Given the description of an element on the screen output the (x, y) to click on. 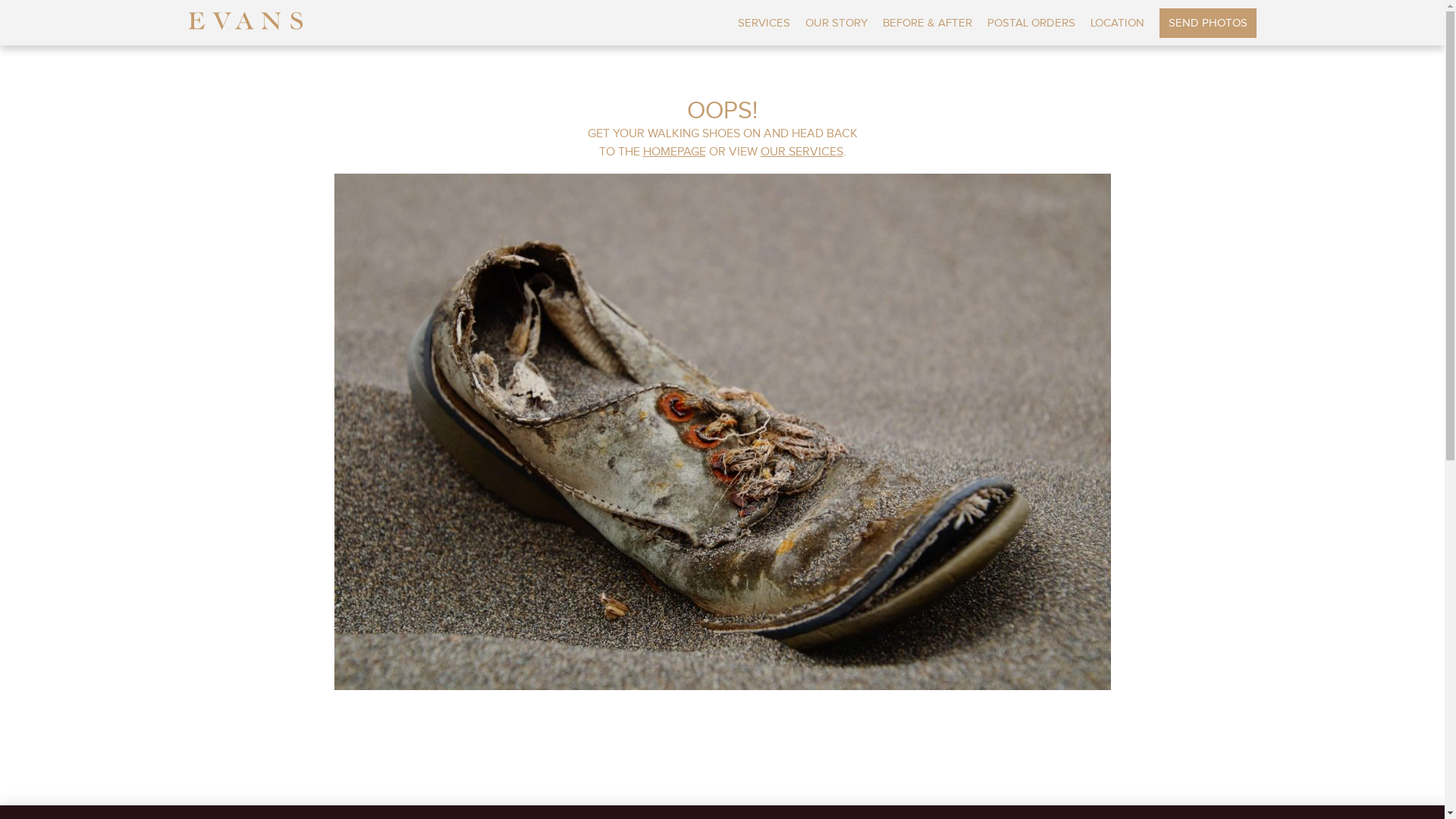
OUR SERVICES Element type: text (800, 151)
Evans Element type: hover (244, 17)
POSTAL ORDERS Element type: text (1030, 23)
LOCATION Element type: text (1116, 23)
SERVICES Element type: text (763, 23)
SEND PHOTOS Element type: text (1207, 22)
HOMEPAGE Element type: text (674, 151)
BEFORE & AFTER Element type: text (927, 23)
OUR STORY Element type: text (836, 23)
